Given the description of an element on the screen output the (x, y) to click on. 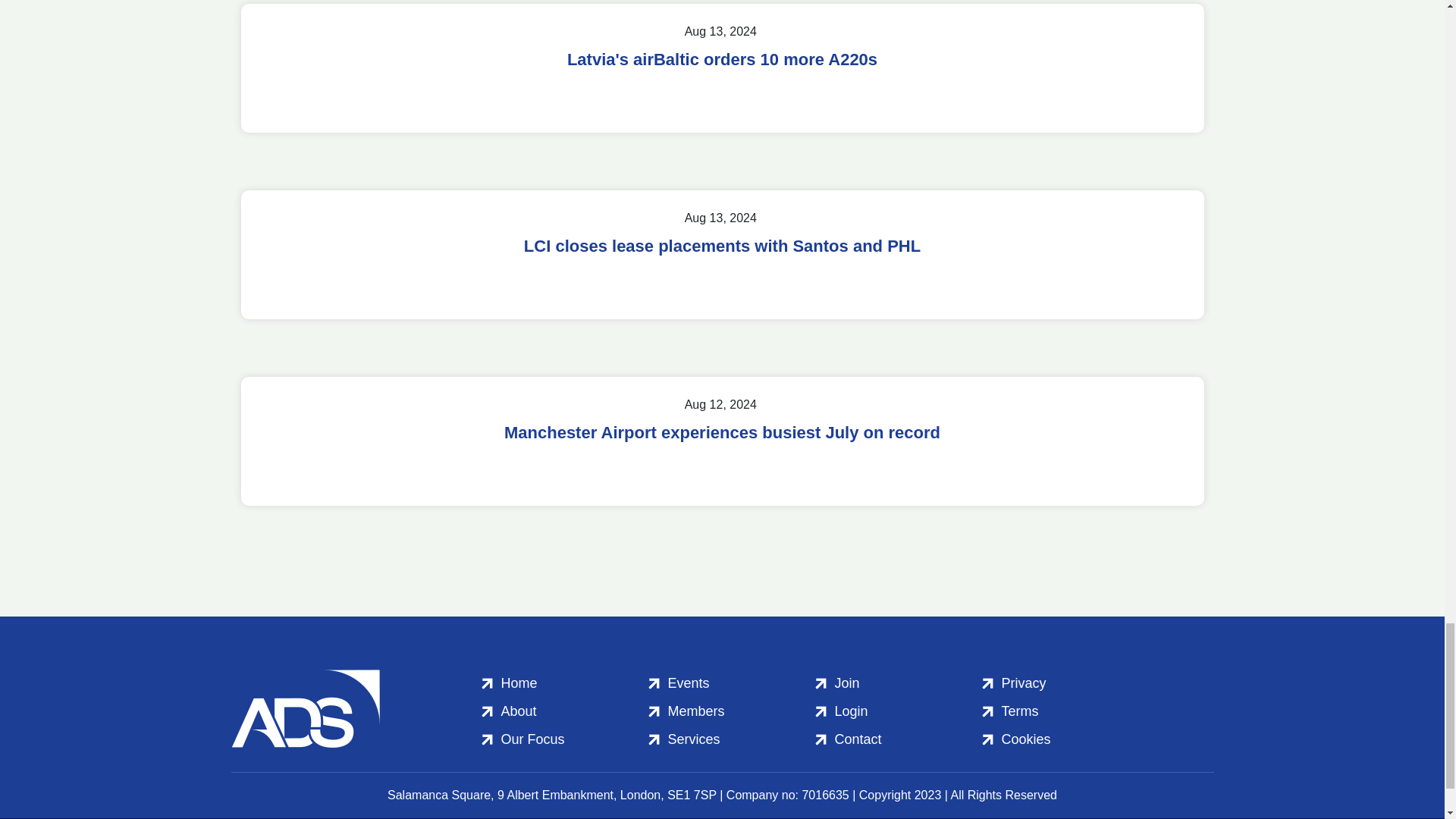
Manchester Airport experiences busiest July on record (721, 432)
LCI closes lease placements with Santos and PHL (722, 246)
Latvia's airBaltic orders 10 more A220s (722, 59)
